Given the description of an element on the screen output the (x, y) to click on. 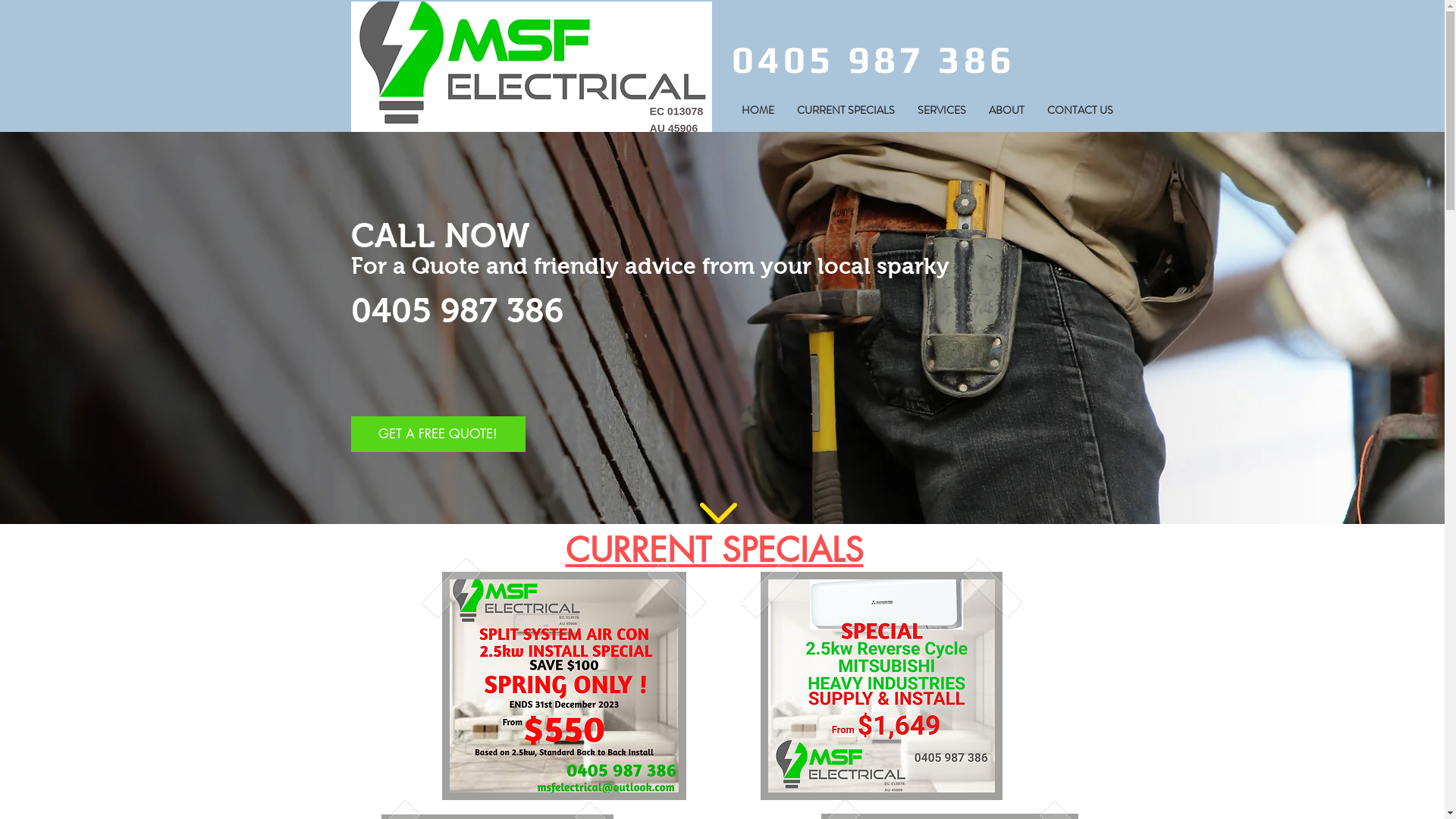
ABOUT Element type: text (1005, 110)
CURRENT SPECIALS Element type: text (714, 549)
SERVICES Element type: text (940, 110)
CONTACT US Element type: text (1079, 110)
GET A FREE QUOTE! Element type: text (437, 433)
HOME Element type: text (756, 110)
CURRENT SPECIALS Element type: text (845, 110)
